Given the description of an element on the screen output the (x, y) to click on. 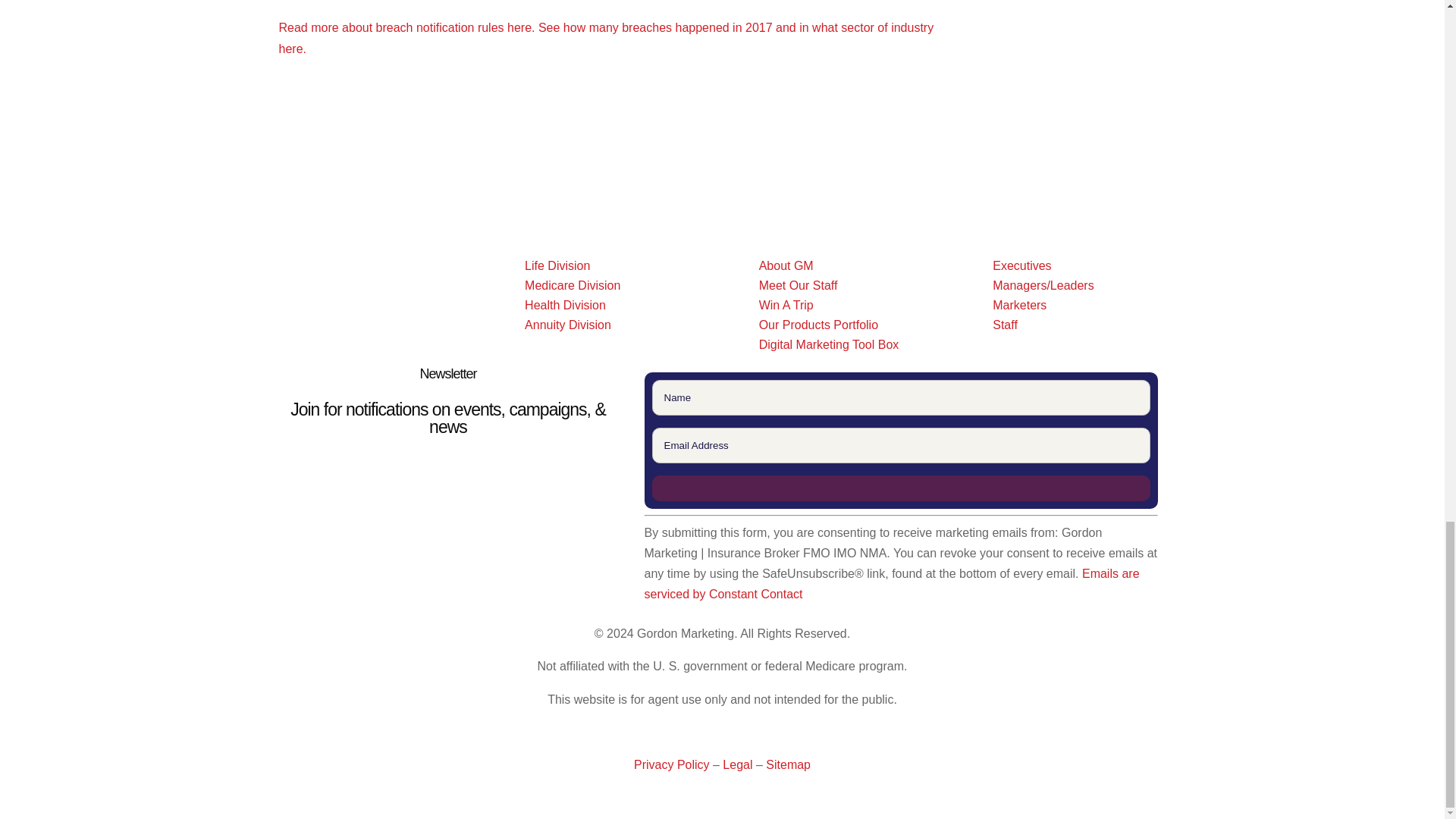
Sign up (901, 488)
